Given the description of an element on the screen output the (x, y) to click on. 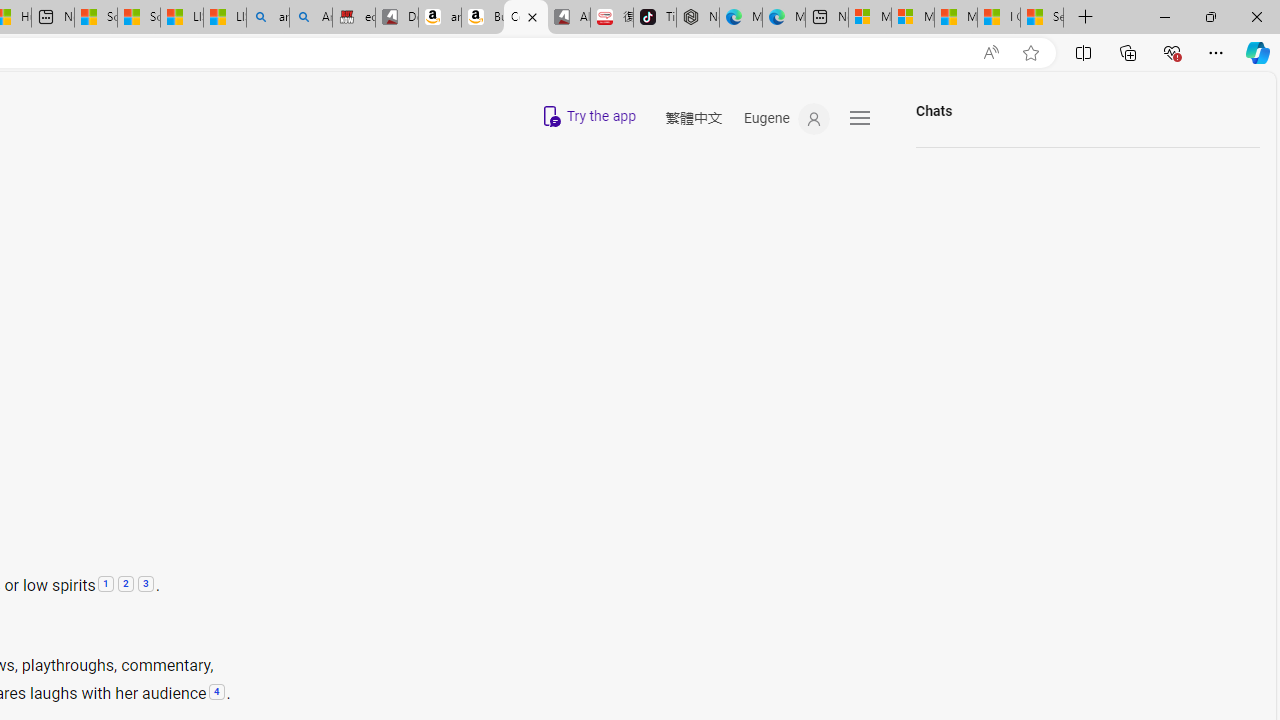
3: Melancholy or Depression: (145, 585)
Amazon Echo Dot PNG - Search Images (310, 17)
4: Gloom (216, 693)
Try Copilot App on mobile (587, 115)
I Gained 20 Pounds of Muscle in 30 Days! | Watch (998, 17)
Nordace - Best Sellers (698, 17)
